Given the description of an element on the screen output the (x, y) to click on. 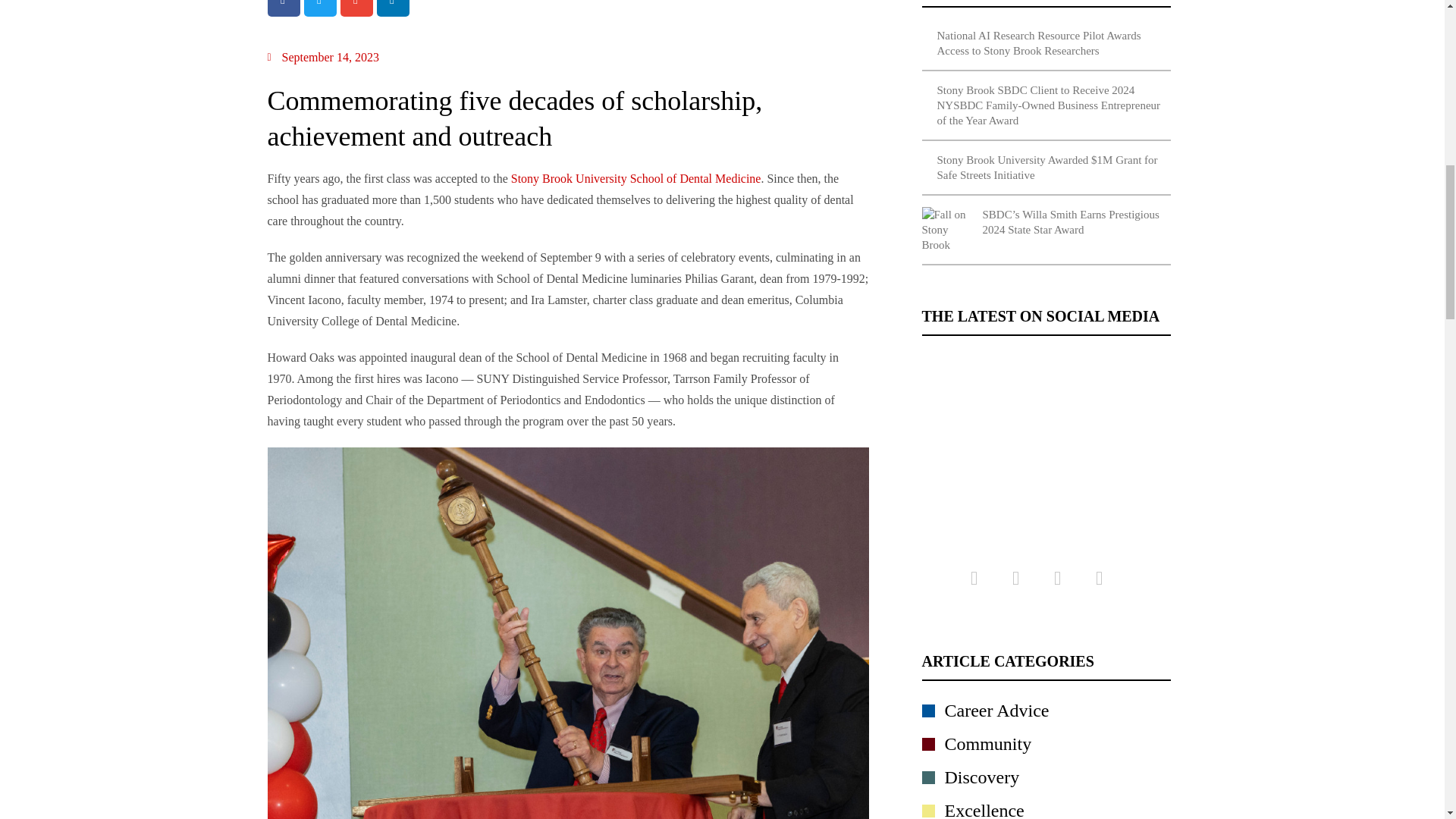
Stony Brook University School of Dental Medicine (636, 178)
September 14, 2023 (322, 56)
